Given the description of an element on the screen output the (x, y) to click on. 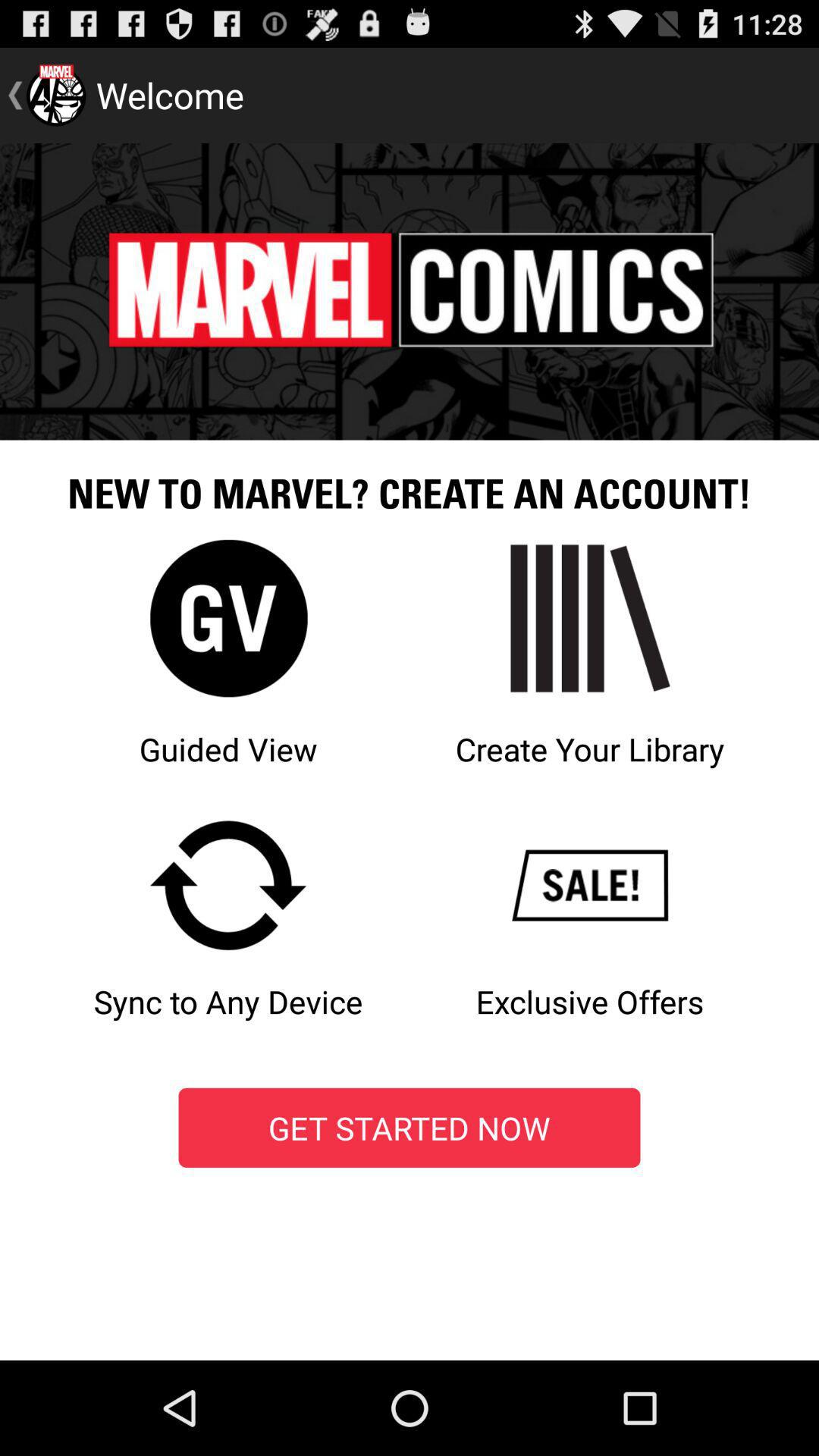
jump until get started now (409, 1127)
